Given the description of an element on the screen output the (x, y) to click on. 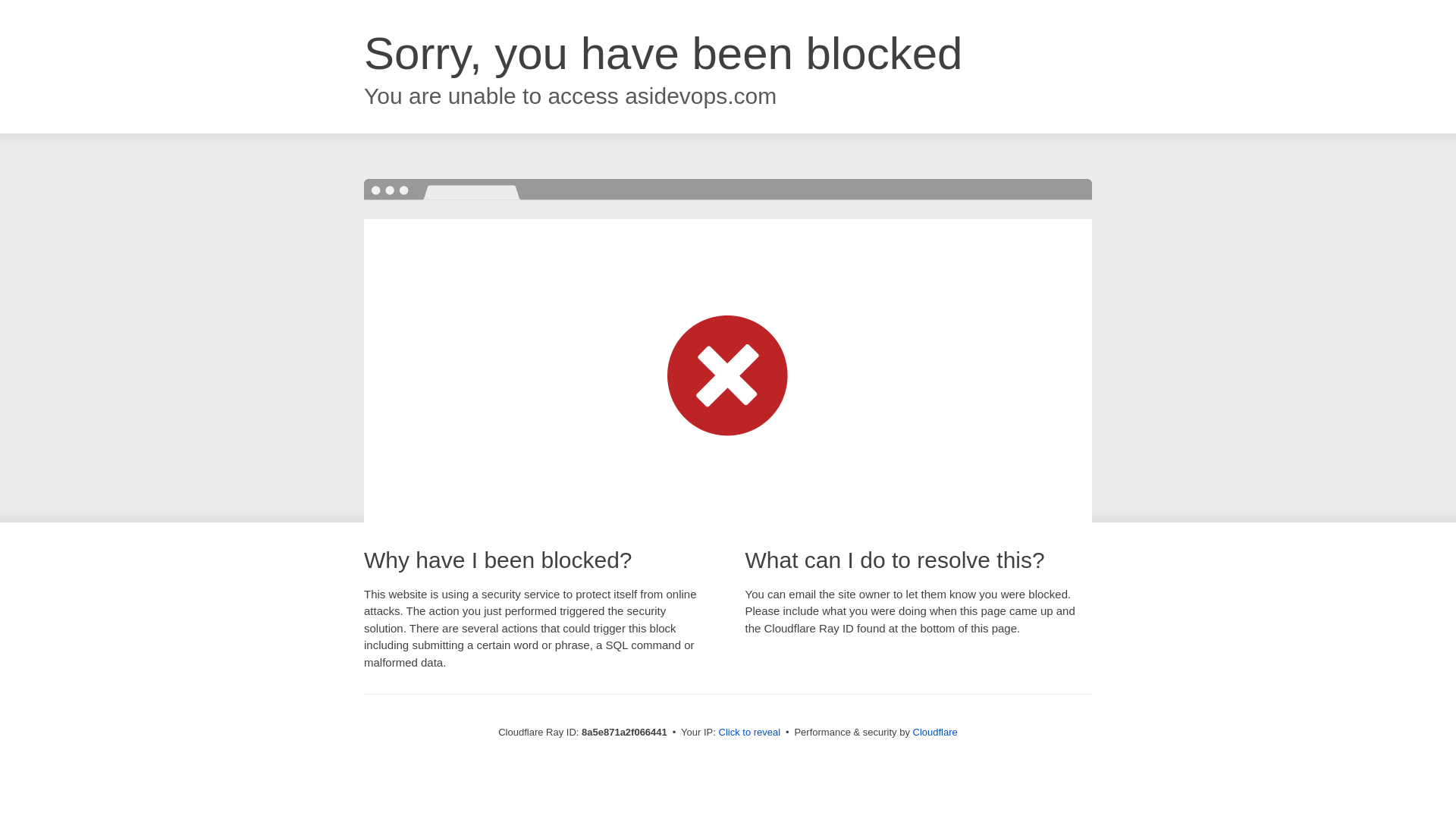
Cloudflare (935, 731)
Click to reveal (749, 732)
